Given the description of an element on the screen output the (x, y) to click on. 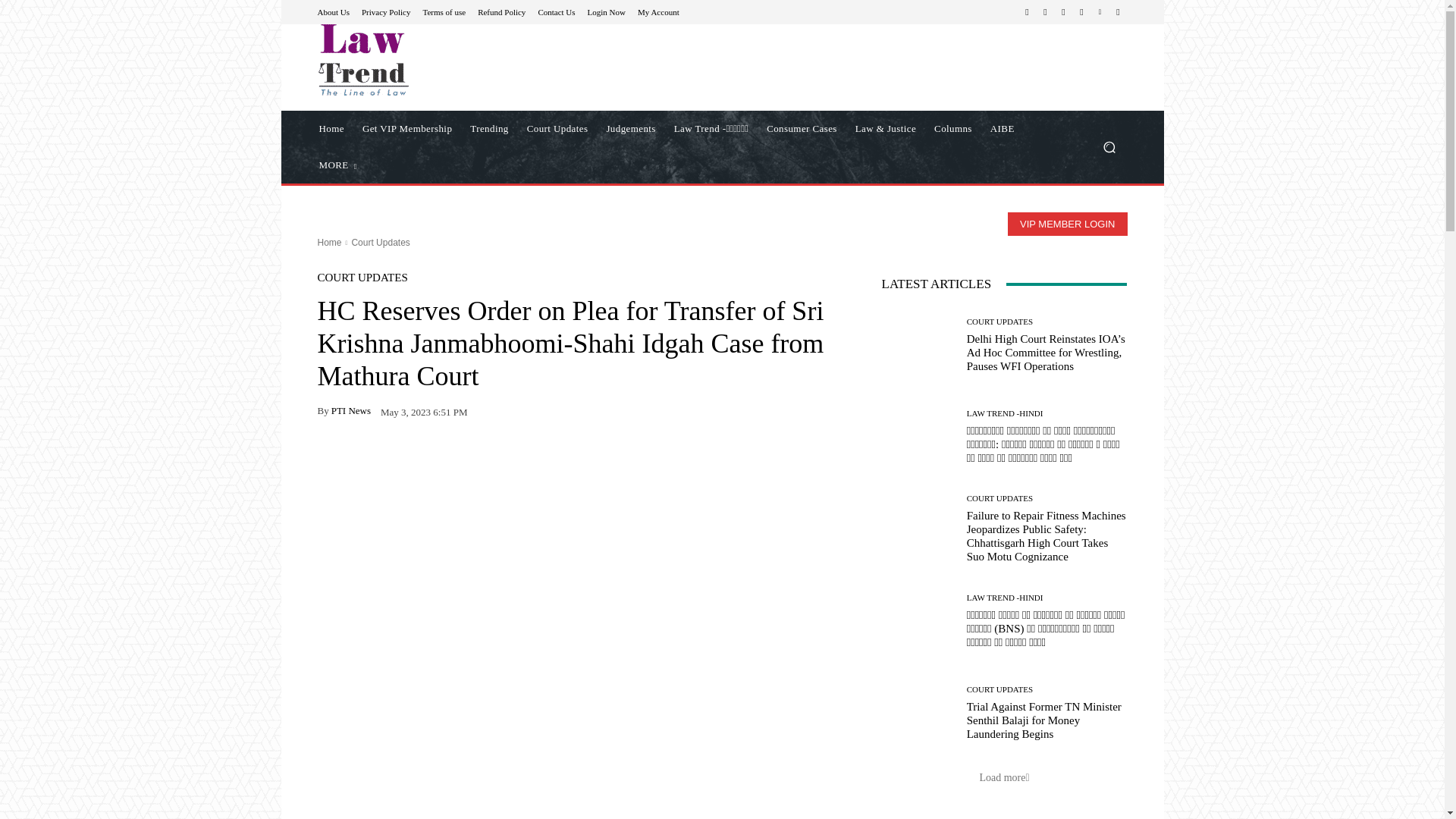
Instagram (1044, 12)
Terms of use (443, 11)
Facebook (1026, 12)
View all posts in Court Updates (379, 242)
Youtube (1117, 12)
Privacy Policy (385, 11)
Refund Policy (501, 11)
Telegram (1062, 12)
VIP MEMBER LOGIN (1066, 223)
Twitter (1080, 12)
